Given the description of an element on the screen output the (x, y) to click on. 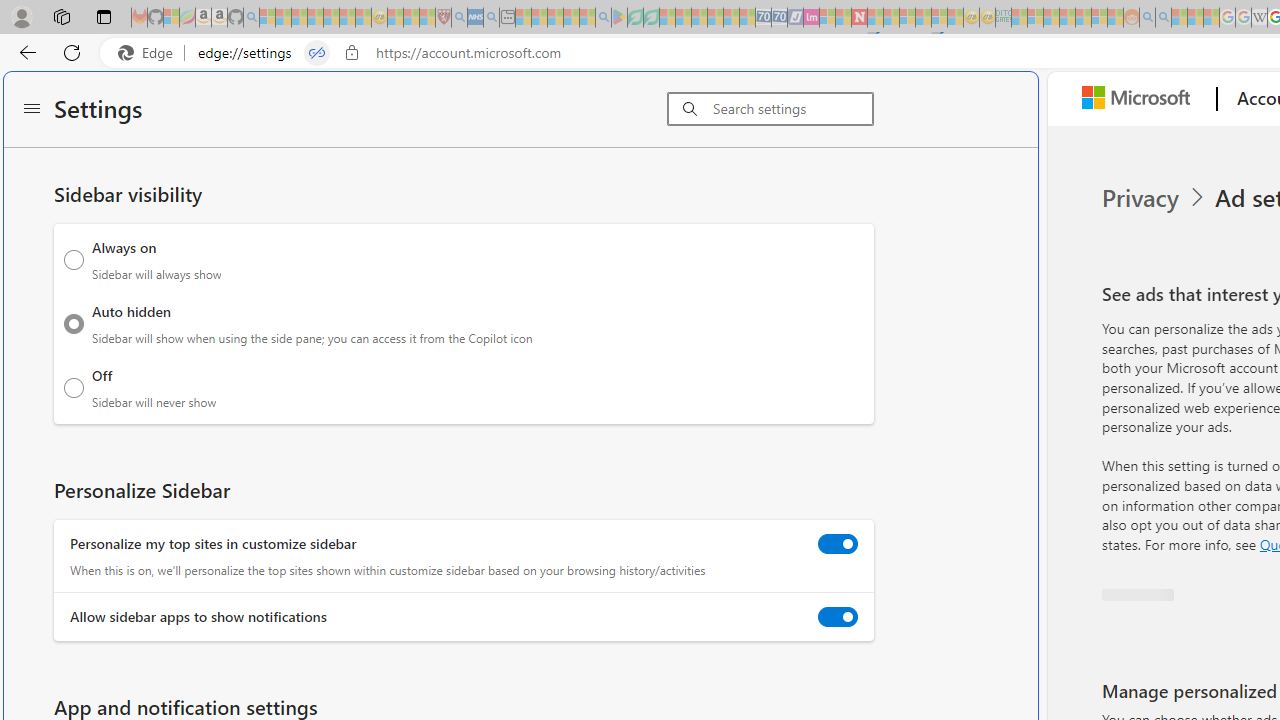
utah sues federal government - Search - Sleeping (491, 17)
Jobs - lastminute.com Investor Portal - Sleeping (811, 17)
Pets - MSN - Sleeping (571, 17)
Terms of Use Agreement - Sleeping (635, 17)
Search settings (791, 109)
Latest Politics News & Archive | Newsweek.com - Sleeping (859, 17)
